Given the description of an element on the screen output the (x, y) to click on. 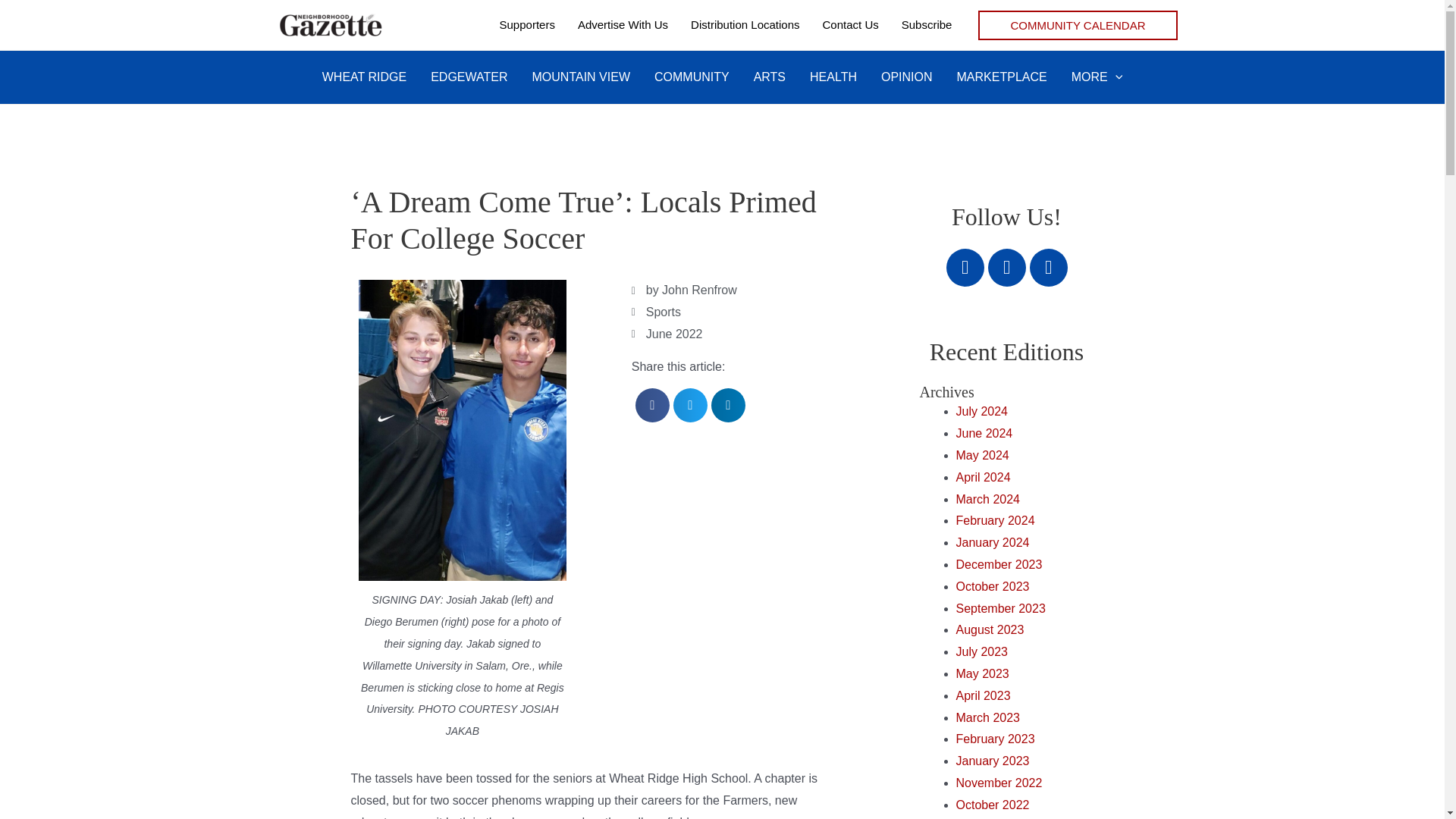
Contact Us (849, 24)
Facebook (965, 267)
MOUNTAIN VIEW (580, 77)
Advertise With Us (622, 24)
Supporters (526, 24)
Subscribe (926, 24)
Instagram (1048, 267)
June 2024 (983, 432)
HEALTH (833, 77)
June 2022 (674, 333)
July 2024 (981, 410)
COMMUNITY CALENDAR (1077, 25)
EDGEWATER (469, 77)
WHEAT RIDGE (364, 77)
COMMUNITY (691, 77)
